Given the description of an element on the screen output the (x, y) to click on. 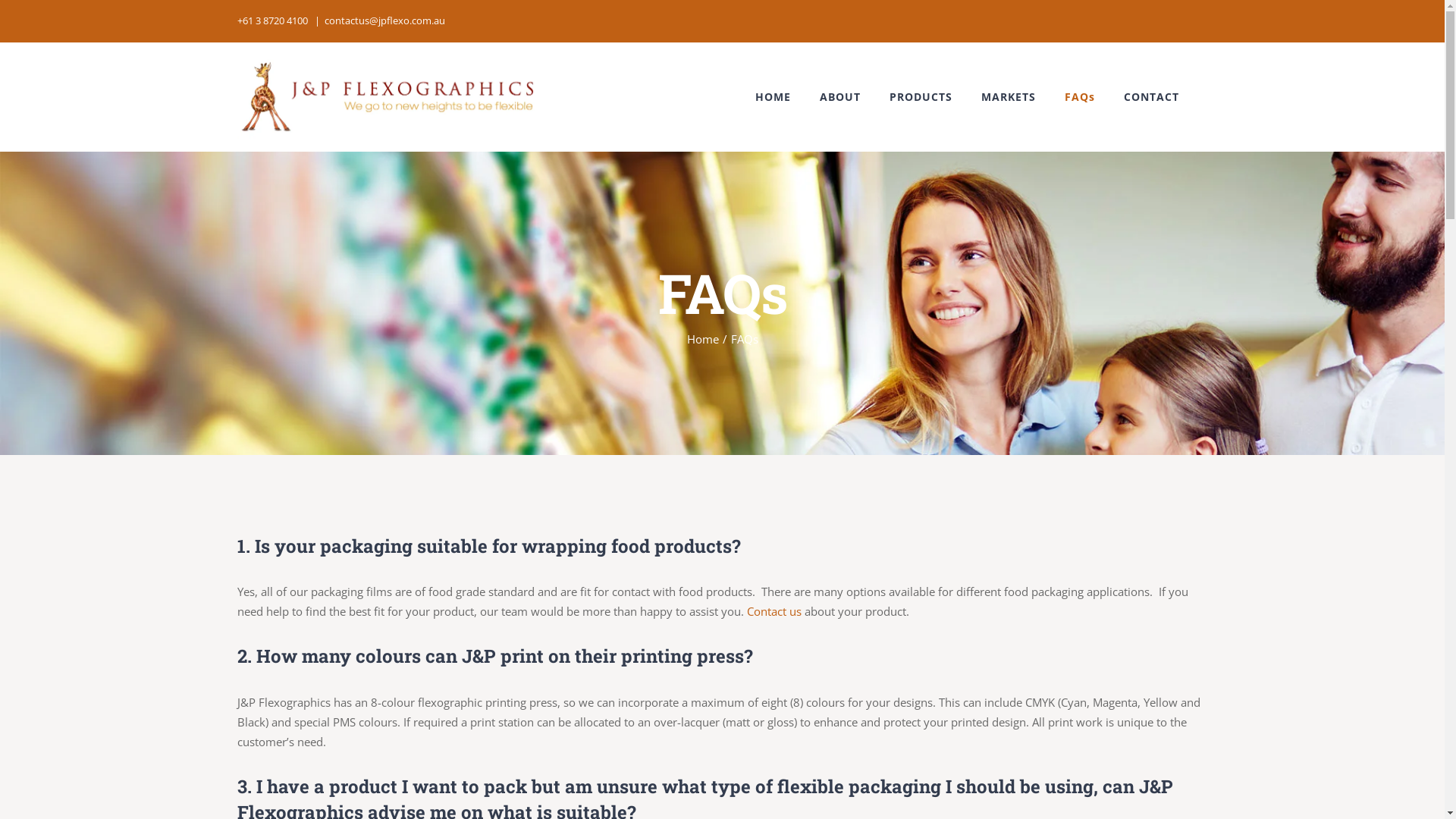
PRODUCTS Element type: text (919, 96)
CONTACT Element type: text (1151, 96)
ABOUT Element type: text (839, 96)
FAQs Element type: text (1079, 96)
Home Element type: text (702, 338)
MARKETS Element type: text (1008, 96)
contactus@jpflexo.com.au Element type: text (384, 20)
Contact us Element type: text (773, 610)
HOME Element type: text (772, 96)
